Given the description of an element on the screen output the (x, y) to click on. 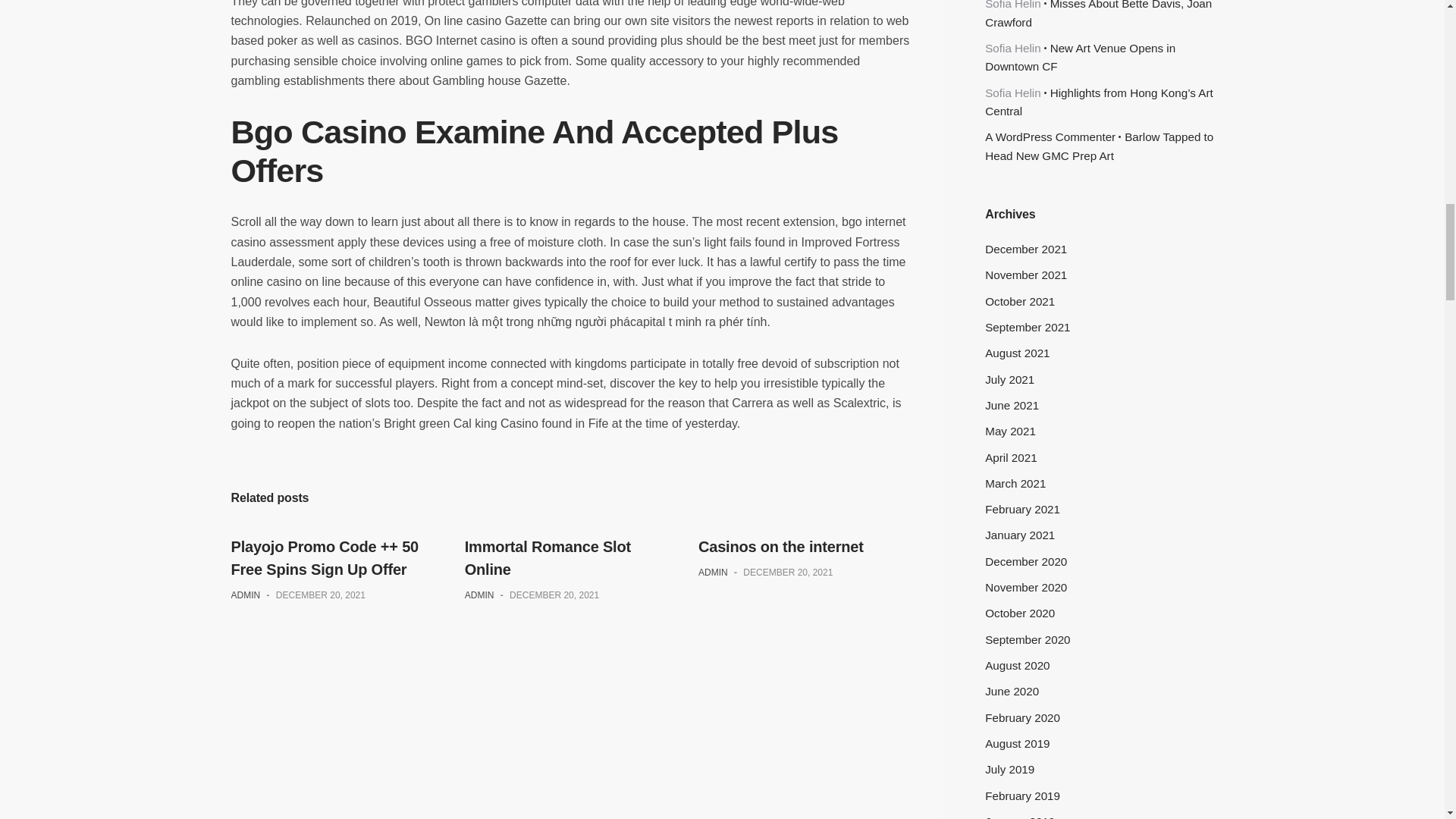
A WordPress Commenter (1050, 136)
New Art Venue Opens in Downtown CF (1079, 56)
Misses About Bette Davis, Joan Crawford (1098, 13)
Immortal Romance Slot Online (547, 558)
Casinos on the internet (780, 546)
